Given the description of an element on the screen output the (x, y) to click on. 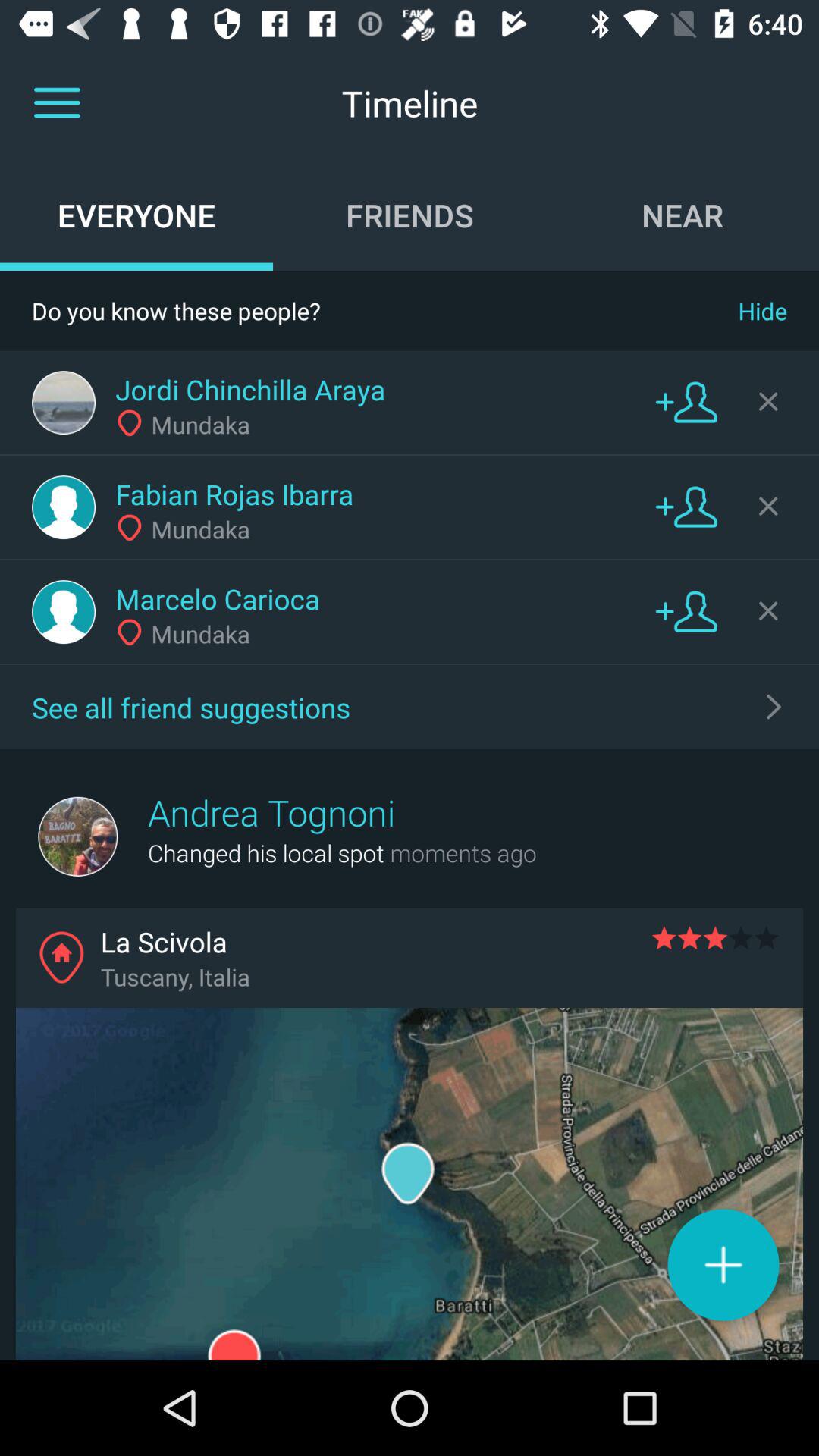
switch to satellite view (409, 1183)
